Given the description of an element on the screen output the (x, y) to click on. 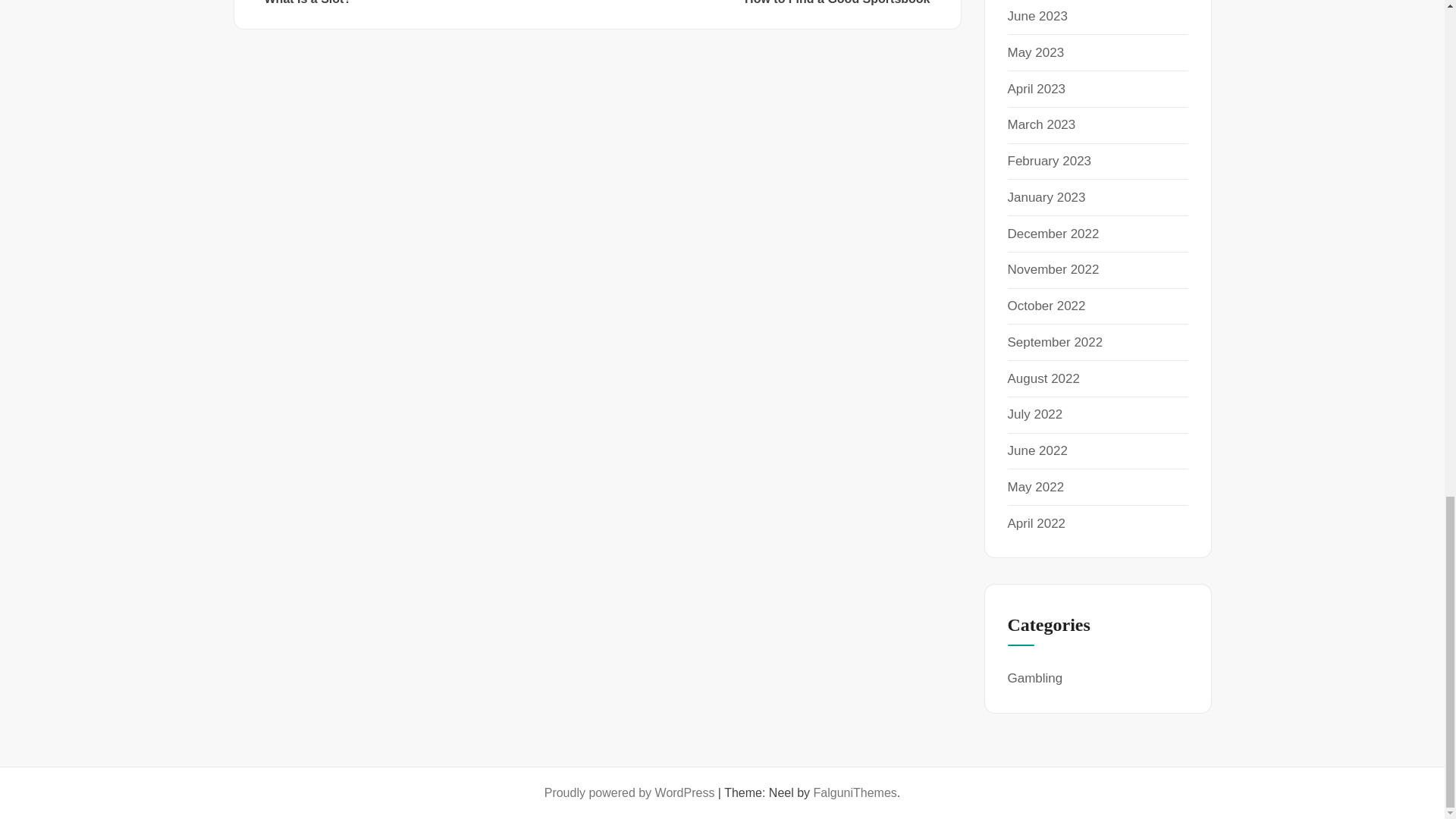
March 2023 (427, 2)
May 2023 (1041, 124)
February 2023 (1035, 52)
June 2023 (1048, 160)
April 2023 (1037, 16)
